Given the description of an element on the screen output the (x, y) to click on. 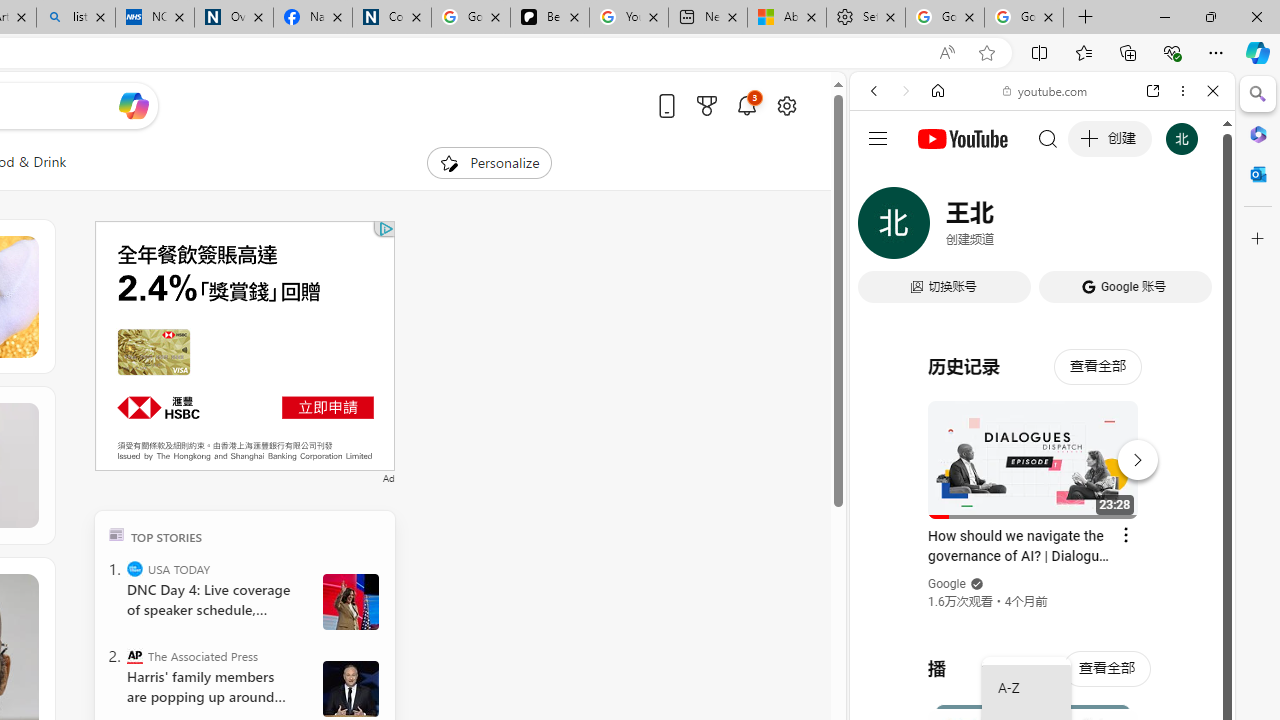
TOP (116, 534)
Class: qc-adchoices-link top-right  (385, 228)
The Associated Press (134, 655)
AutomationID: canvas (244, 345)
Aberdeen, Hong Kong SAR hourly forecast | Microsoft Weather (786, 17)
YouTube (1034, 296)
